Given the description of an element on the screen output the (x, y) to click on. 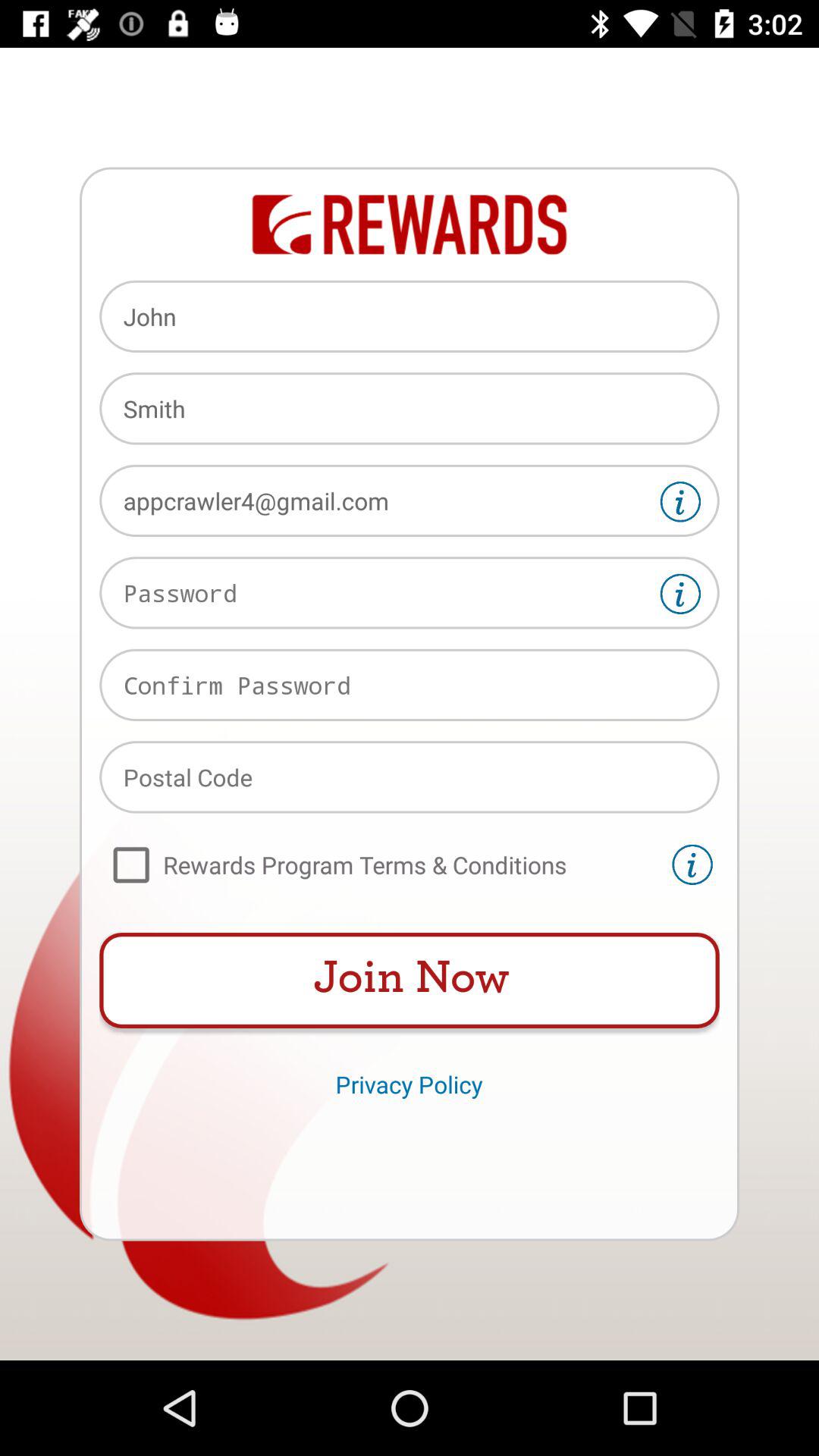
input field for confirm password (409, 684)
